Given the description of an element on the screen output the (x, y) to click on. 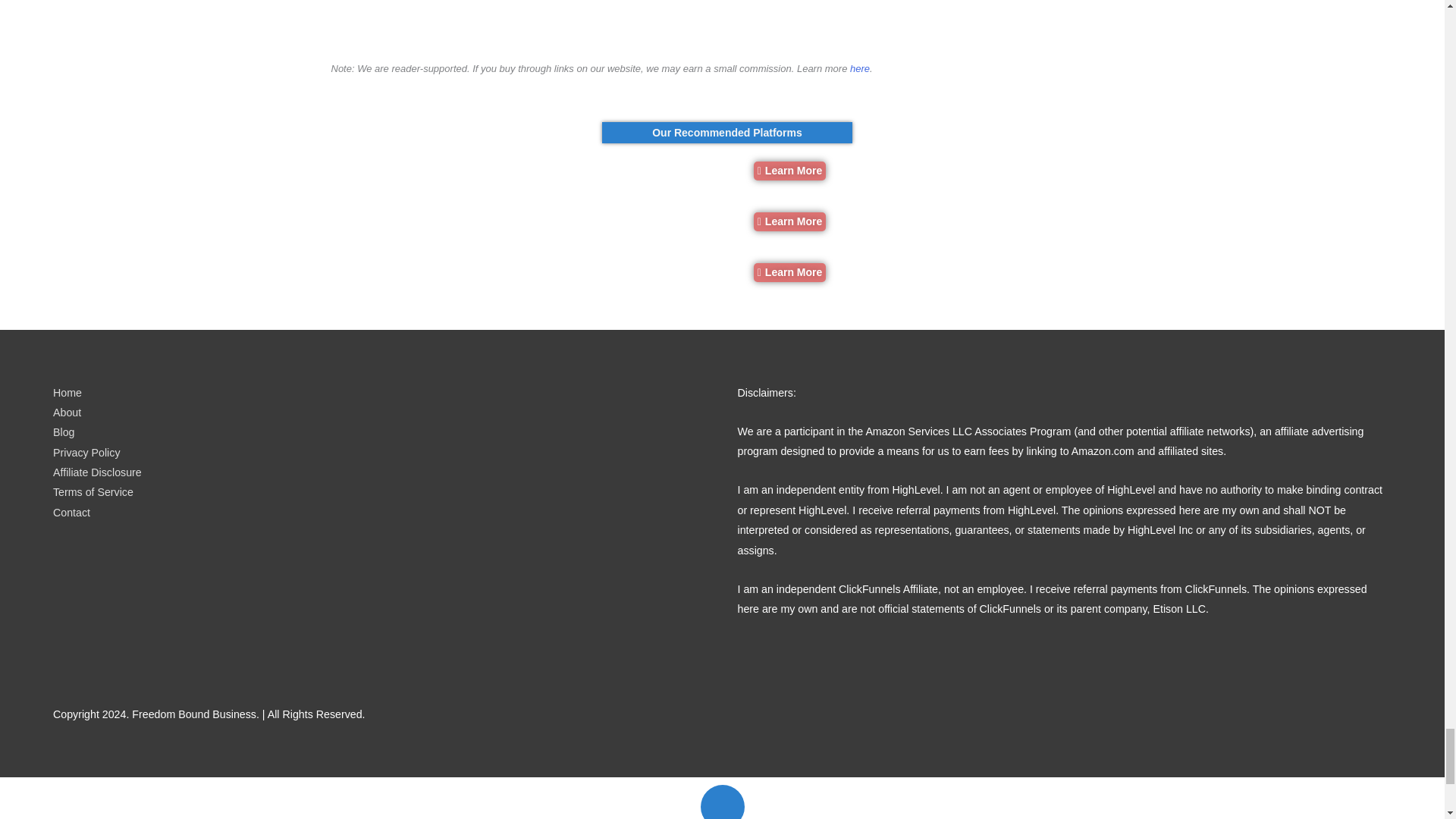
DMCA.com Protection Status (166, 612)
